Given the description of an element on the screen output the (x, y) to click on. 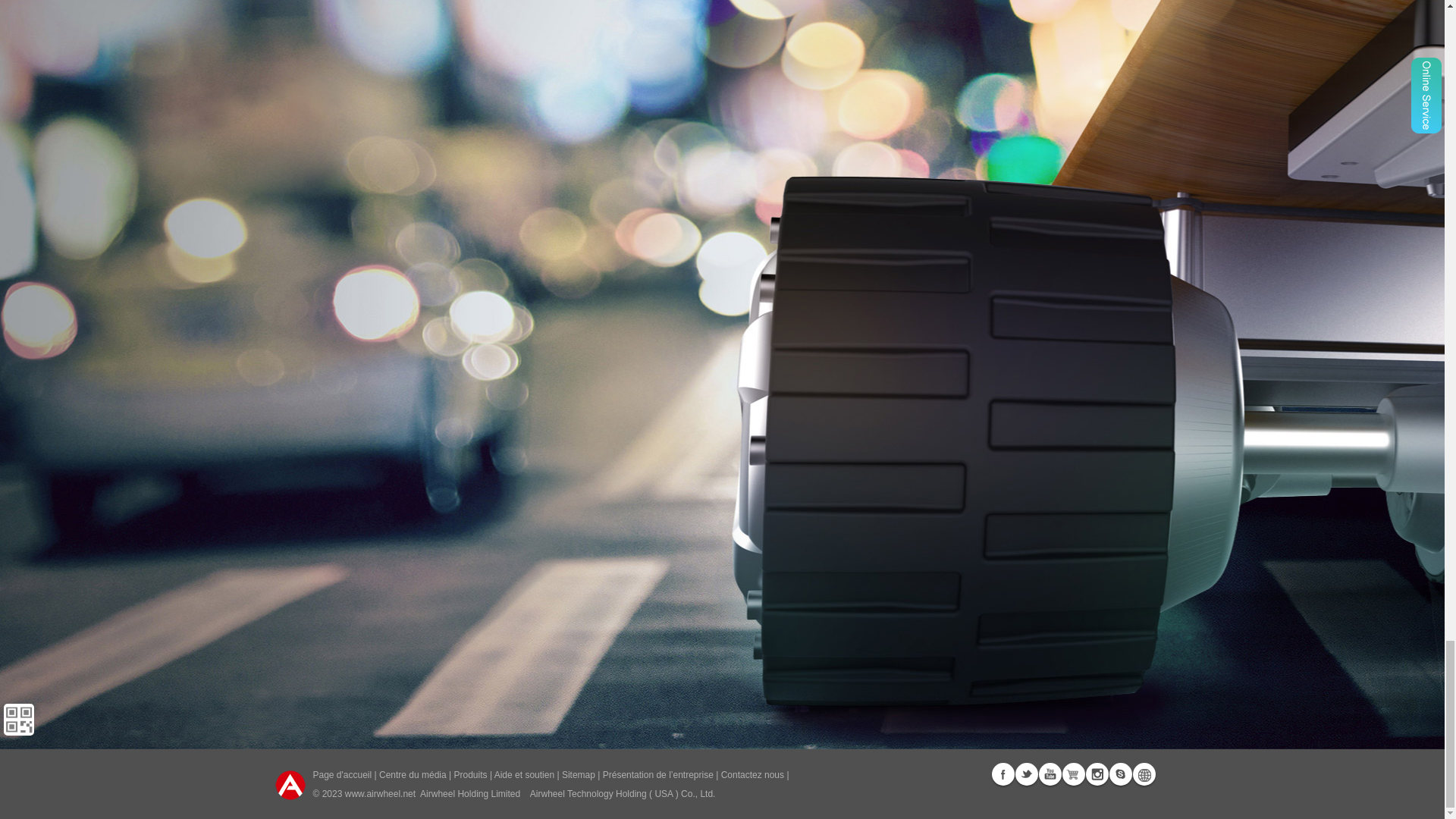
Global (1144, 773)
Twitter (1025, 773)
Youtube (1050, 773)
Instagram (1097, 773)
Skype (1119, 773)
Facebook (1002, 773)
